Given the description of an element on the screen output the (x, y) to click on. 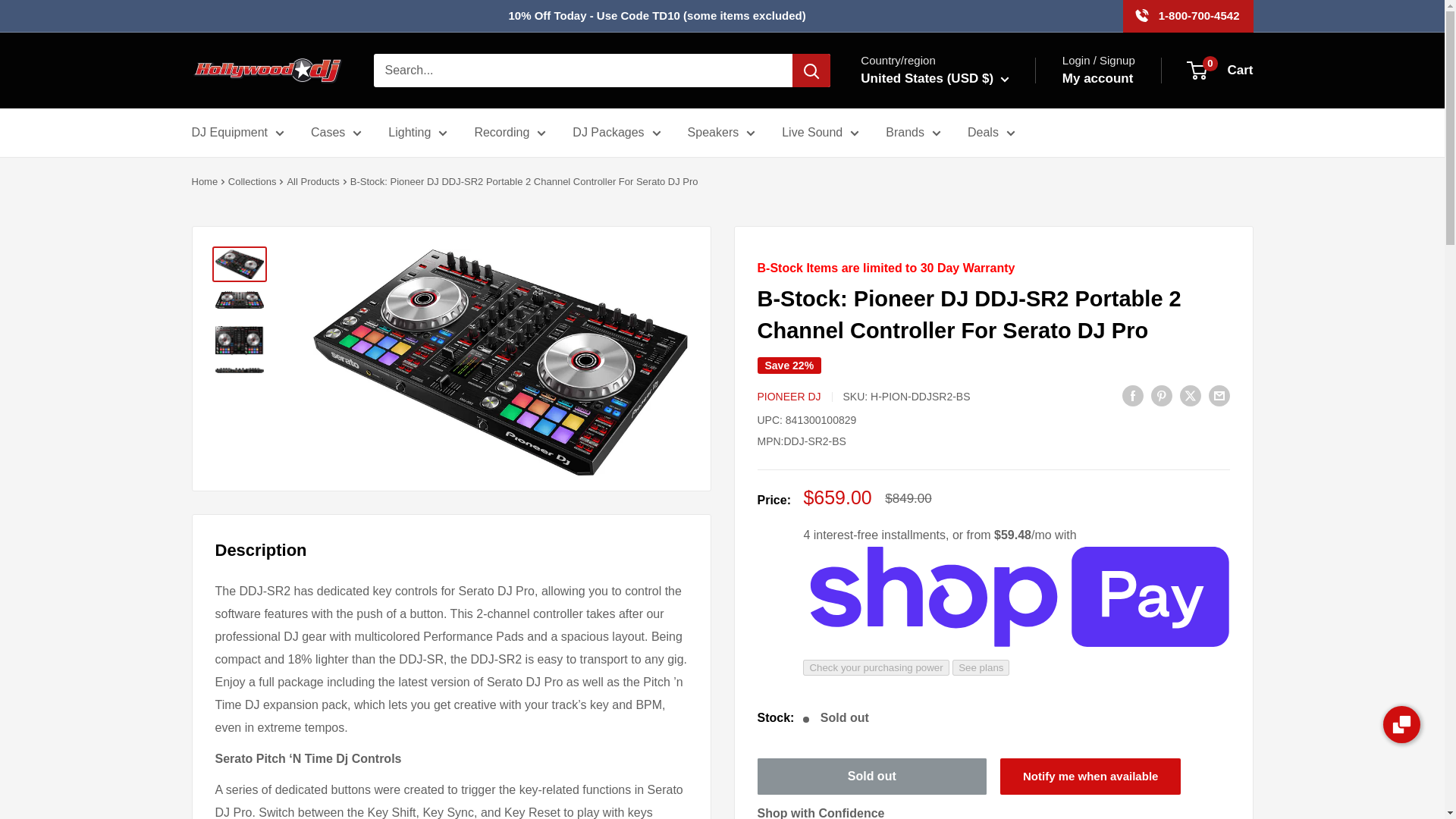
1-800-700-4542 (1187, 15)
